Given the description of an element on the screen output the (x, y) to click on. 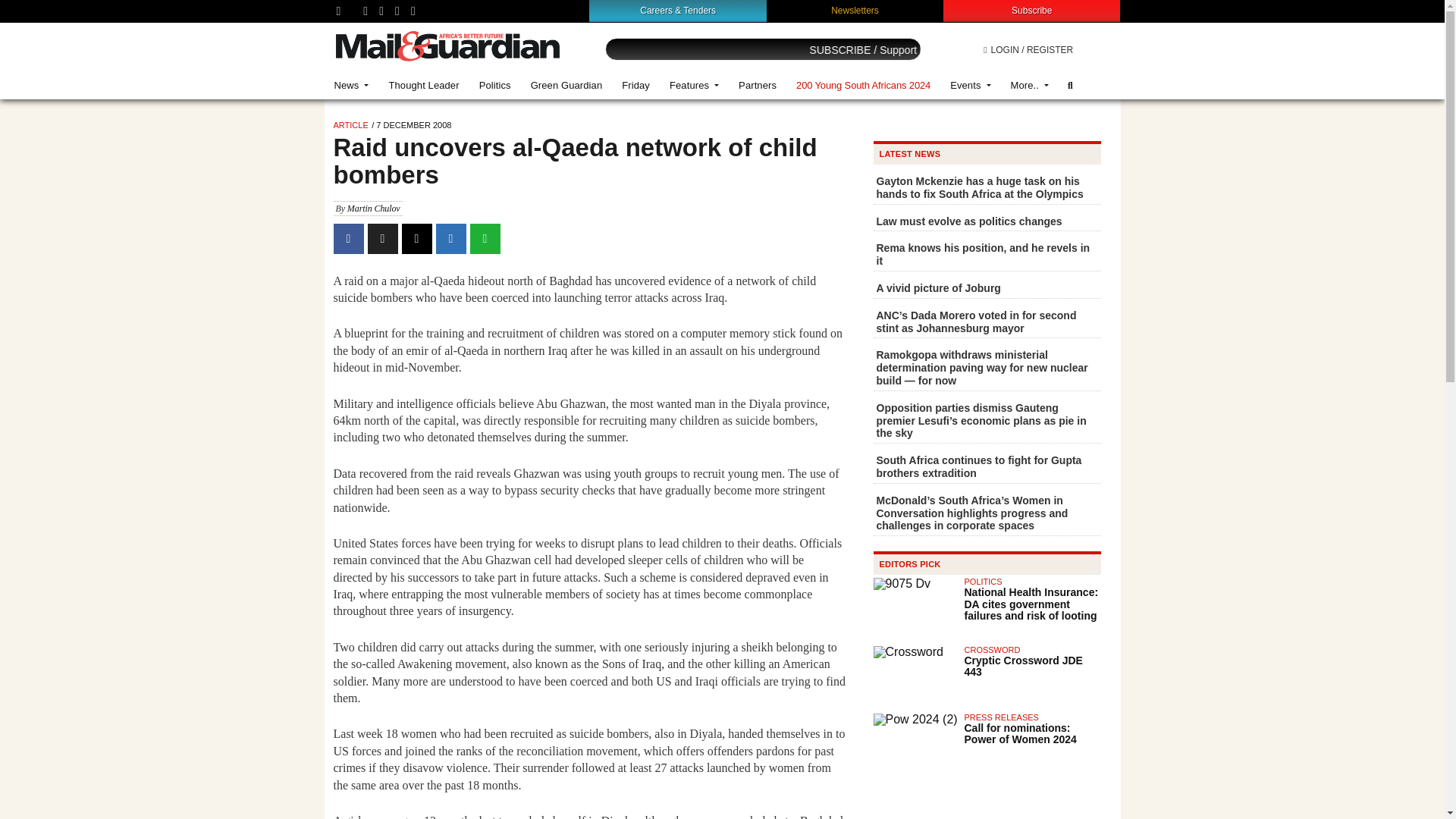
News (351, 85)
News (351, 85)
Friday (635, 85)
Newsletters (855, 9)
Thought Leader (423, 85)
Subscribe (1031, 9)
Politics (494, 85)
Features (694, 85)
Green Guardian (566, 85)
